Given the description of an element on the screen output the (x, y) to click on. 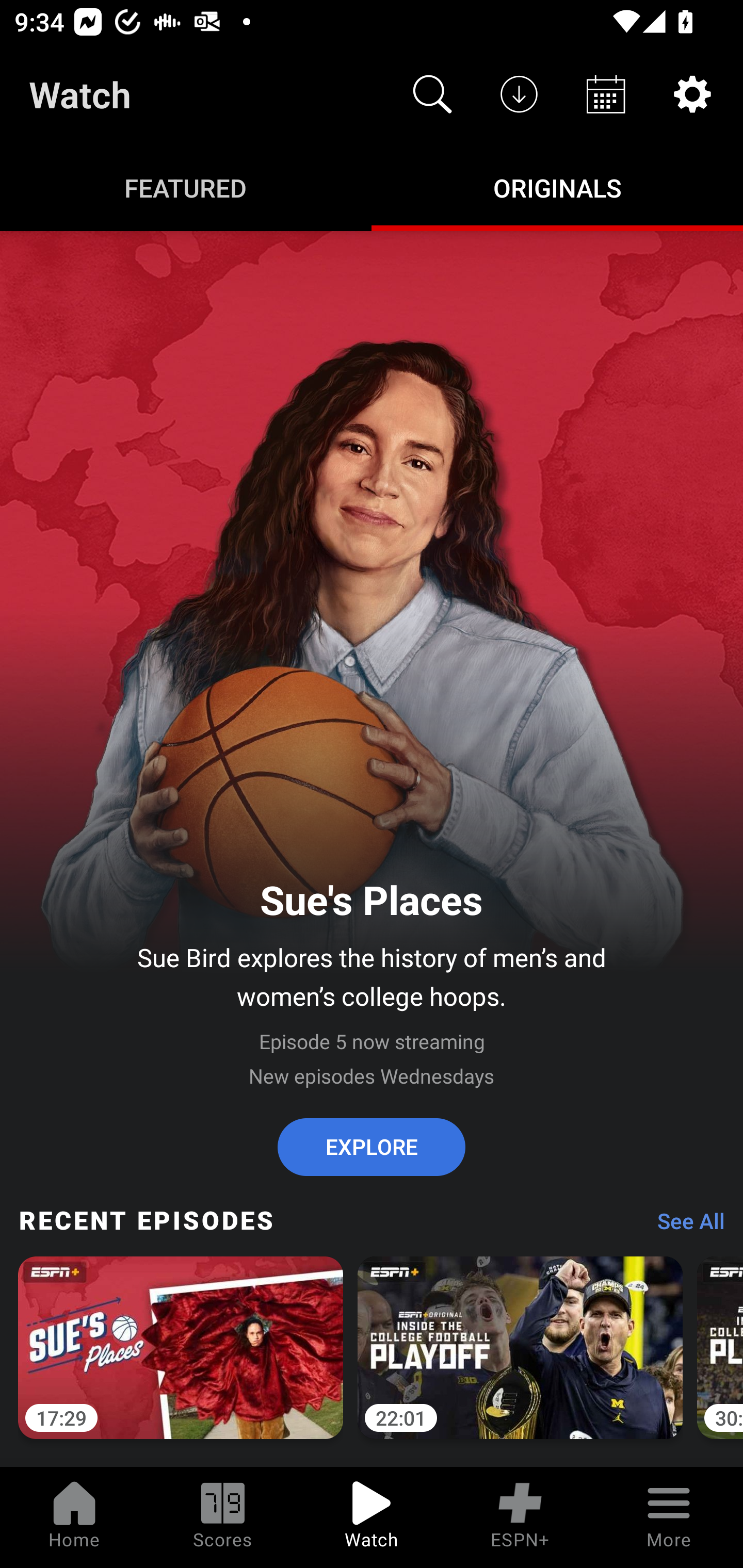
Search (432, 93)
Downloads (518, 93)
Schedule (605, 93)
Settings (692, 93)
Featured FEATURED (185, 187)
EXPLORE (371, 1146)
See All (683, 1225)
17:29 Bird is the Word (Ep. 5) (180, 1358)
22:01 Nobody Better (Ep. 4) (519, 1358)
Home (74, 1517)
Scores (222, 1517)
ESPN+ (519, 1517)
More (668, 1517)
